Given the description of an element on the screen output the (x, y) to click on. 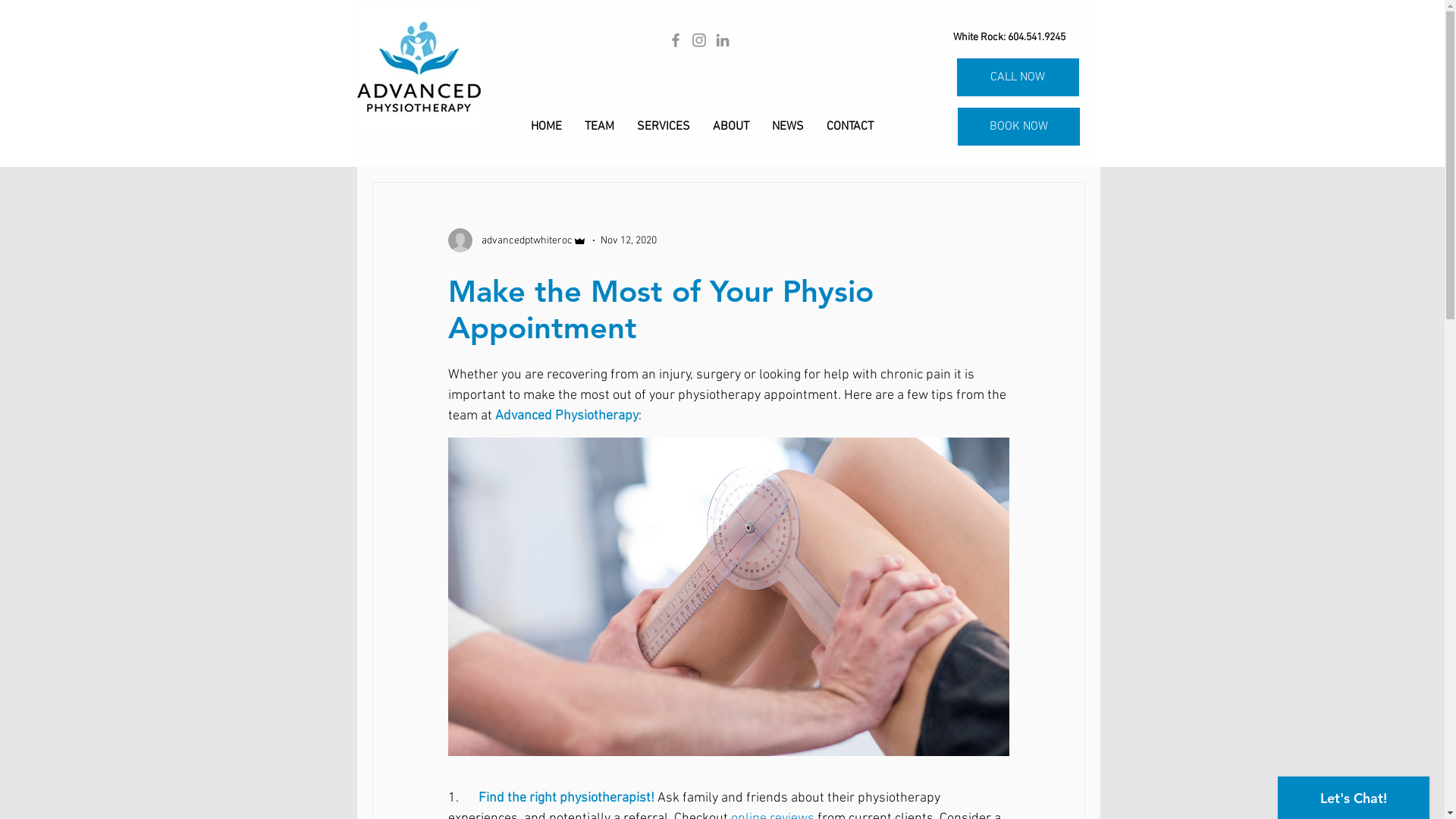
SERVICES Element type: text (662, 126)
BOOK NOW Element type: text (1018, 126)
CALL NOW Element type: text (1018, 77)
NEWS Element type: text (786, 126)
CONTACT Element type: text (849, 126)
ABOUT Element type: text (729, 126)
HOME Element type: text (545, 126)
TEAM Element type: text (599, 126)
